Given the description of an element on the screen output the (x, y) to click on. 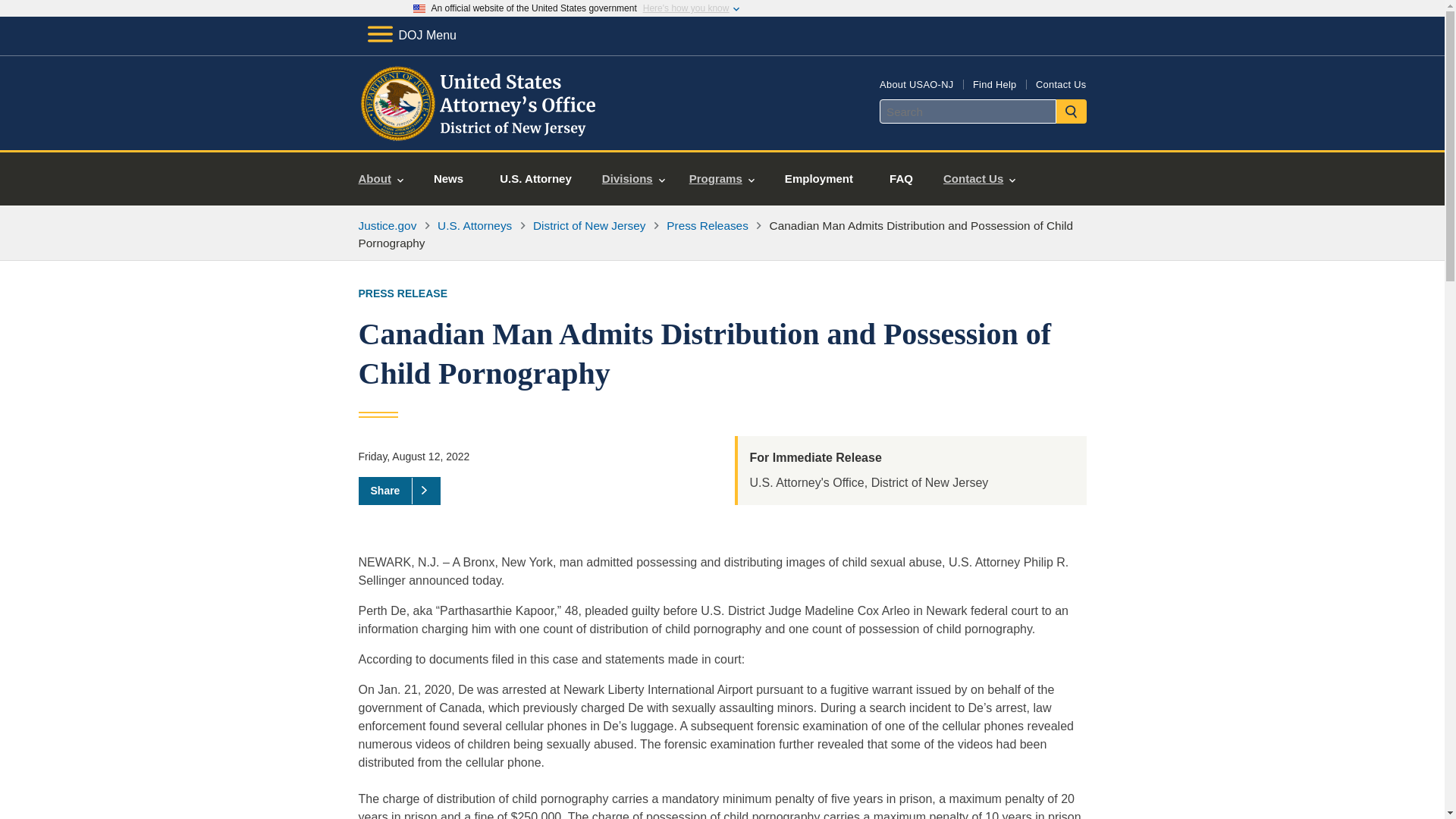
Share (398, 490)
Employment (818, 179)
FAQ (900, 179)
District of New Jersey (589, 225)
Here's how you know (686, 8)
About USAO-NJ (916, 84)
U.S. Attorneys (475, 225)
Find Help (994, 84)
News (447, 179)
Contact Us (1060, 84)
Justice.gov (387, 225)
DOJ Menu (411, 35)
Programs (722, 179)
Press Releases (707, 225)
Employment (818, 179)
